Given the description of an element on the screen output the (x, y) to click on. 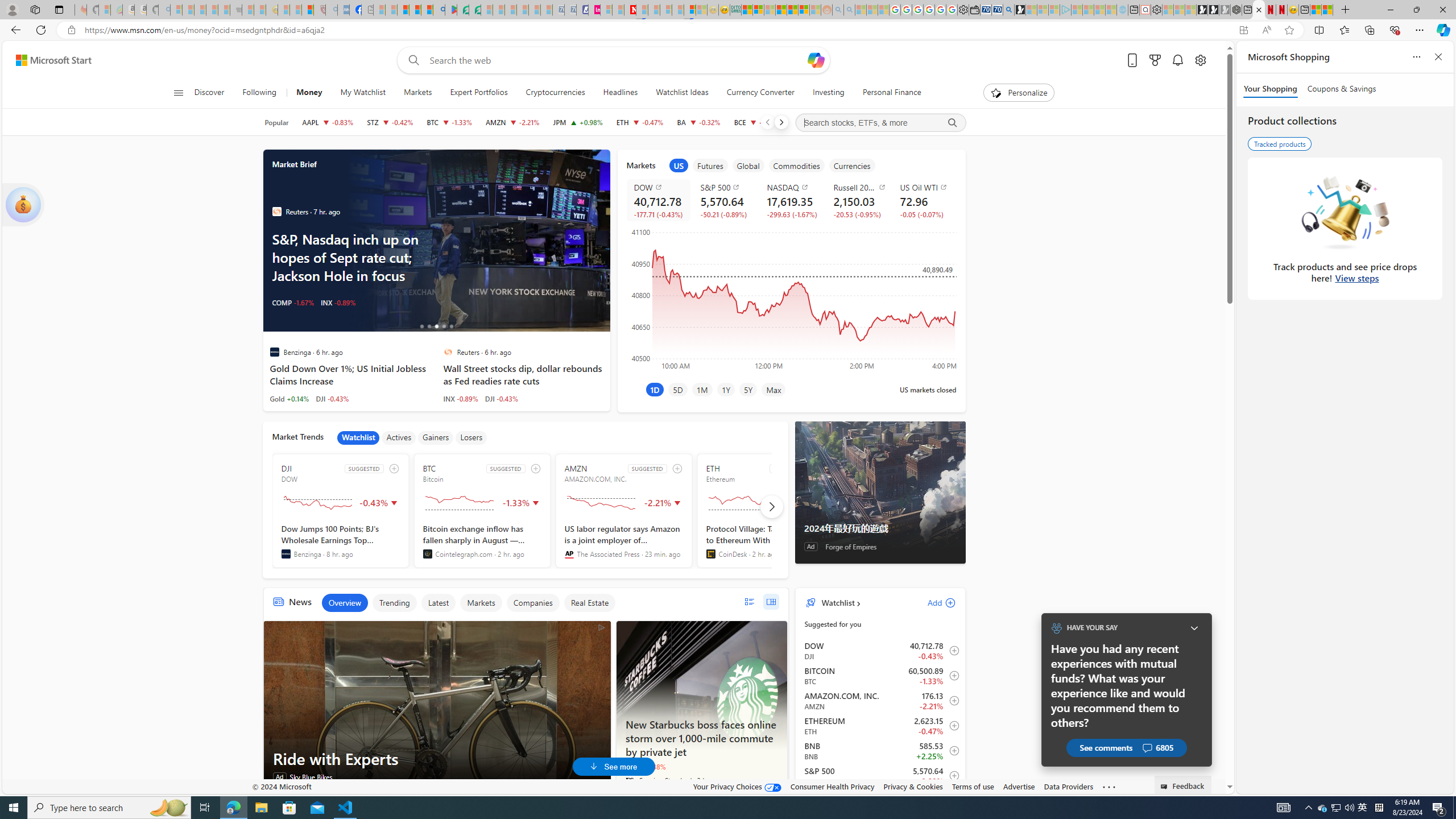
AMZN AMAZON.COM, INC. decrease 176.13 -3.98 -2.21% item2 (880, 700)
ETH SUGGESTED Ethereum (765, 510)
item2 (710, 164)
Russell 2000 RUT decrease 2,150.03 -20.53 -0.95% (857, 200)
item5 (851, 164)
Terms of Use Agreement (462, 9)
